Given the description of an element on the screen output the (x, y) to click on. 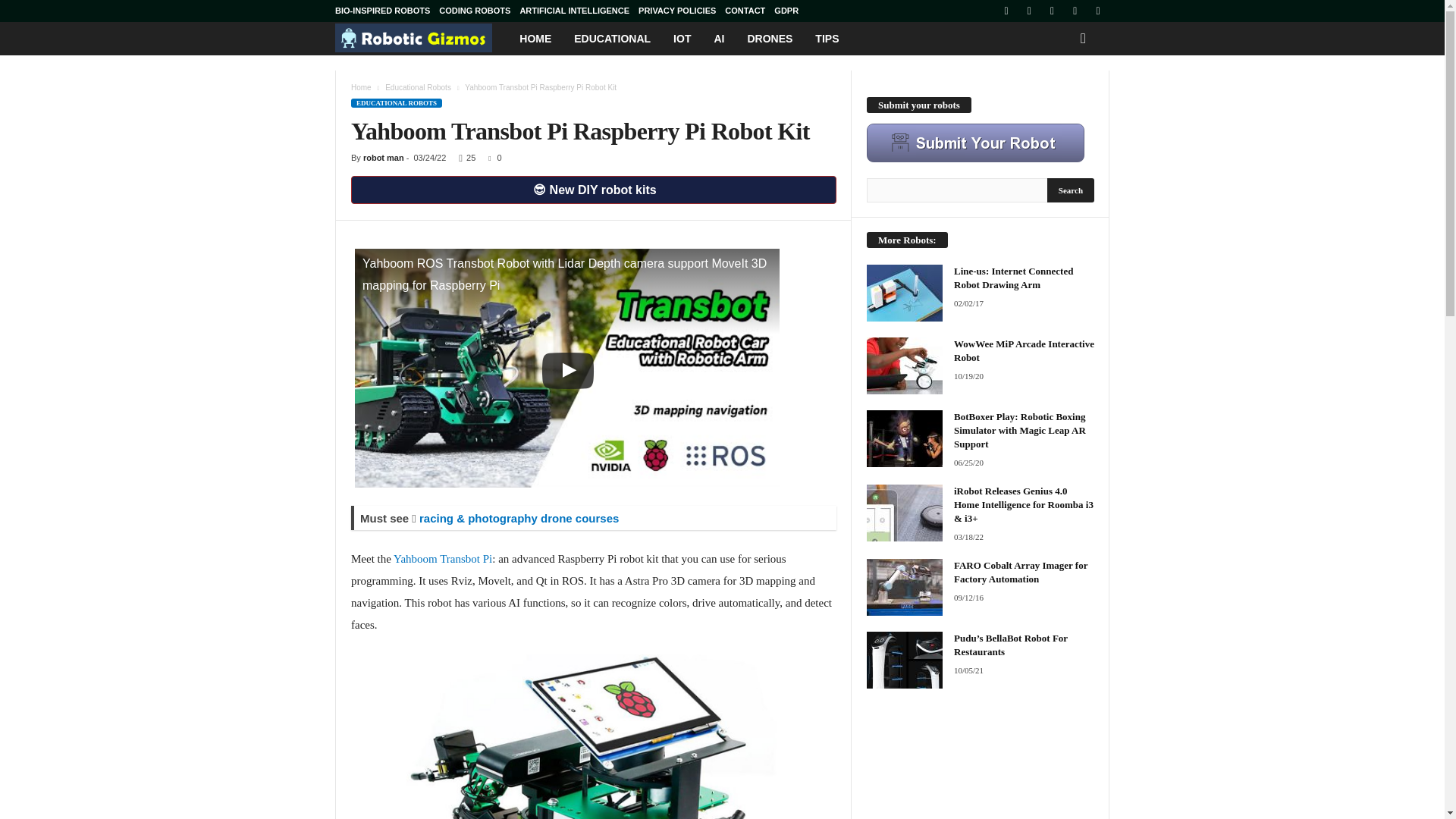
CODING ROBOTS (475, 10)
BIO-INSPIRED ROBOTS (381, 10)
Robotic Gizmos (421, 38)
PRIVACY POLICIES (677, 10)
CONTACT (745, 10)
Search (1070, 190)
GDPR (785, 10)
ARTIFICIAL INTELLIGENCE (573, 10)
HOME (535, 38)
